Given the description of an element on the screen output the (x, y) to click on. 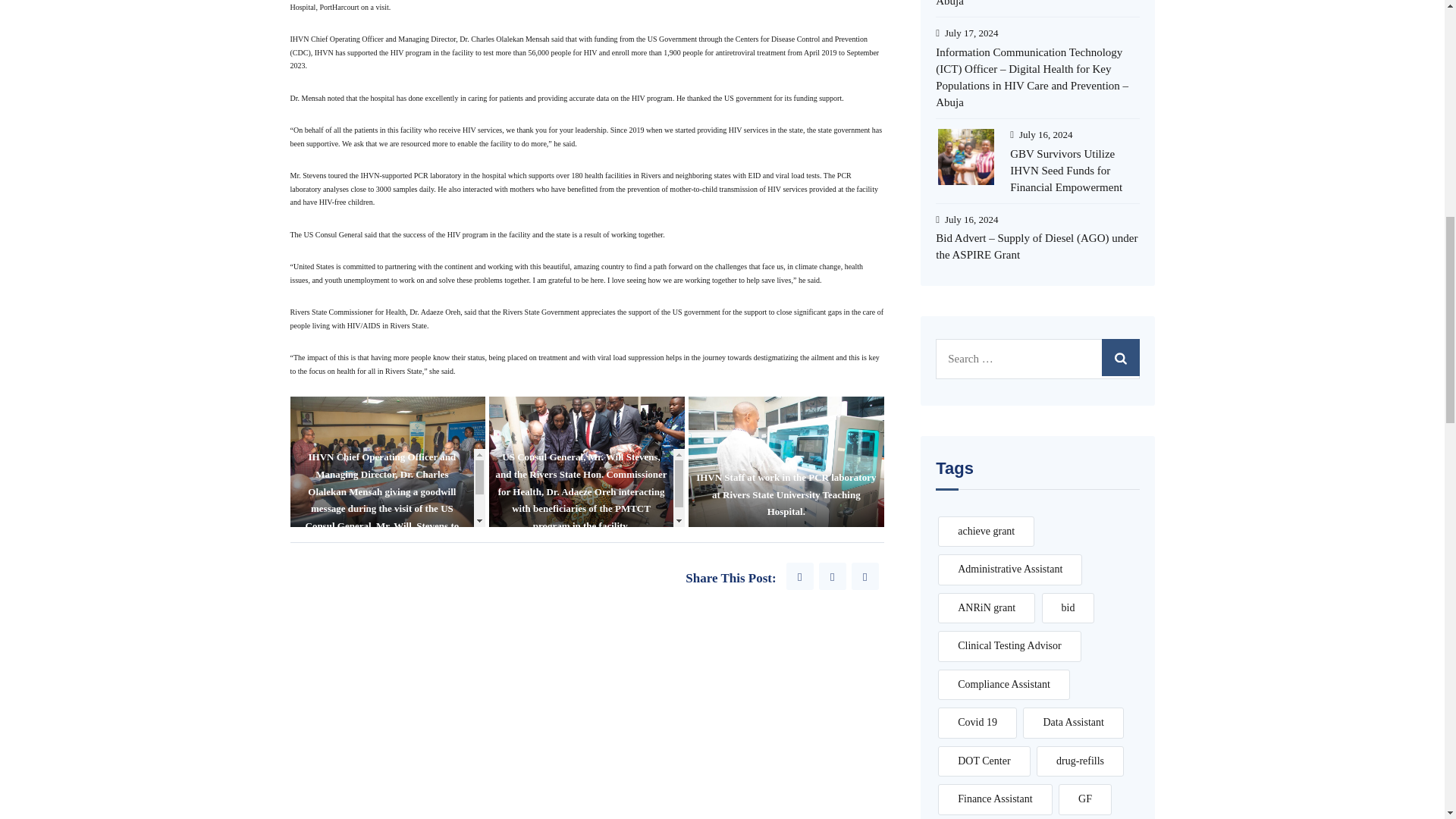
Search (1119, 357)
Search (1119, 357)
